Given the description of an element on the screen output the (x, y) to click on. 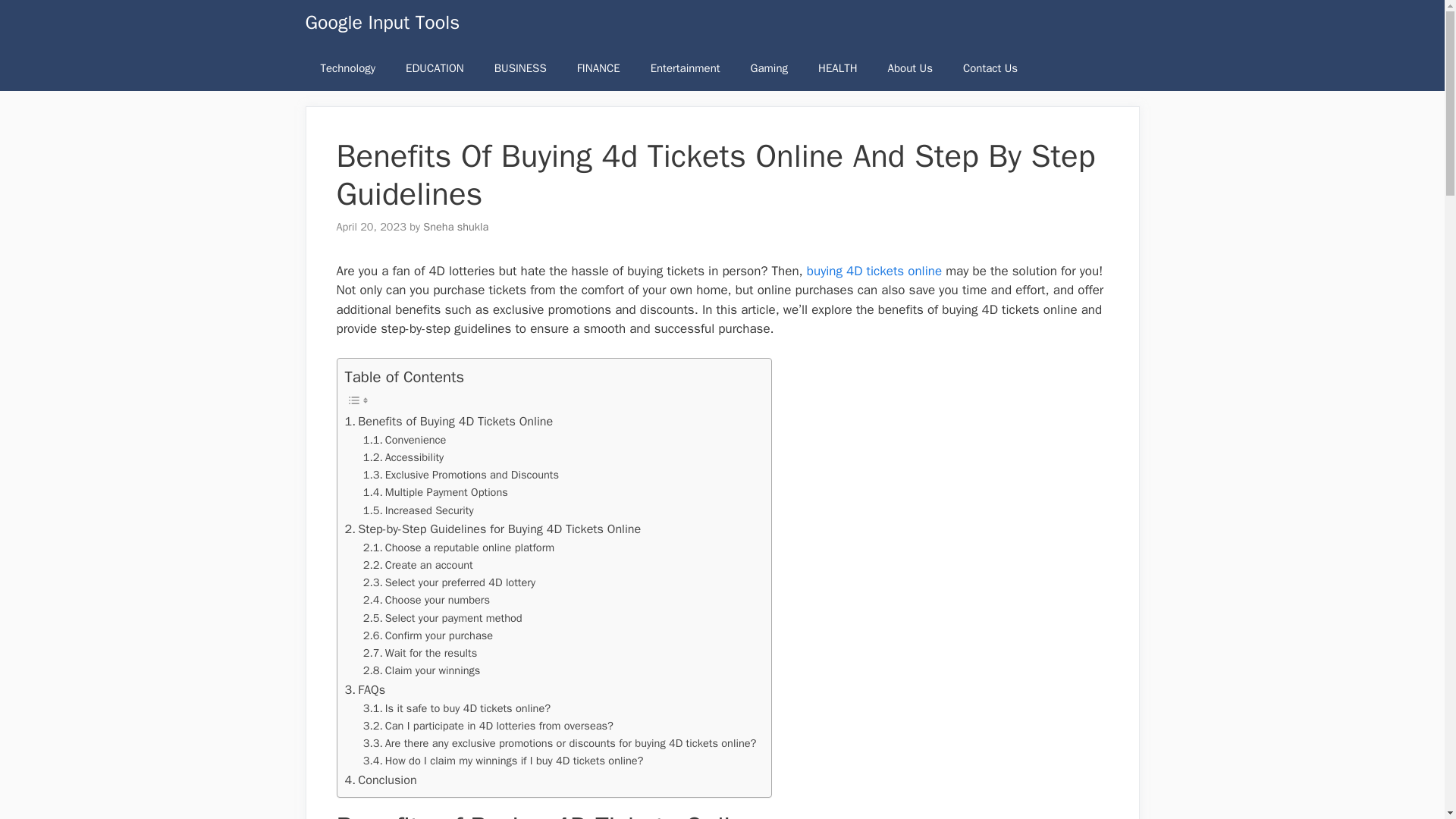
Exclusive Promotions and Discounts (460, 475)
Gaming (769, 67)
Multiple Payment Options (435, 492)
Conclusion (379, 780)
Accessibility (403, 457)
Select your preferred 4D lottery (448, 582)
Sneha shukla (455, 226)
Step-by-Step Guidelines for Buying 4D Tickets Online (491, 528)
Can I participate in 4D lotteries from overseas? (487, 725)
Confirm your purchase (427, 635)
Select your payment method (442, 618)
Benefits of Buying 4D Tickets Online (448, 421)
buying 4D tickets online (874, 270)
Increased Security (418, 510)
